Given the description of an element on the screen output the (x, y) to click on. 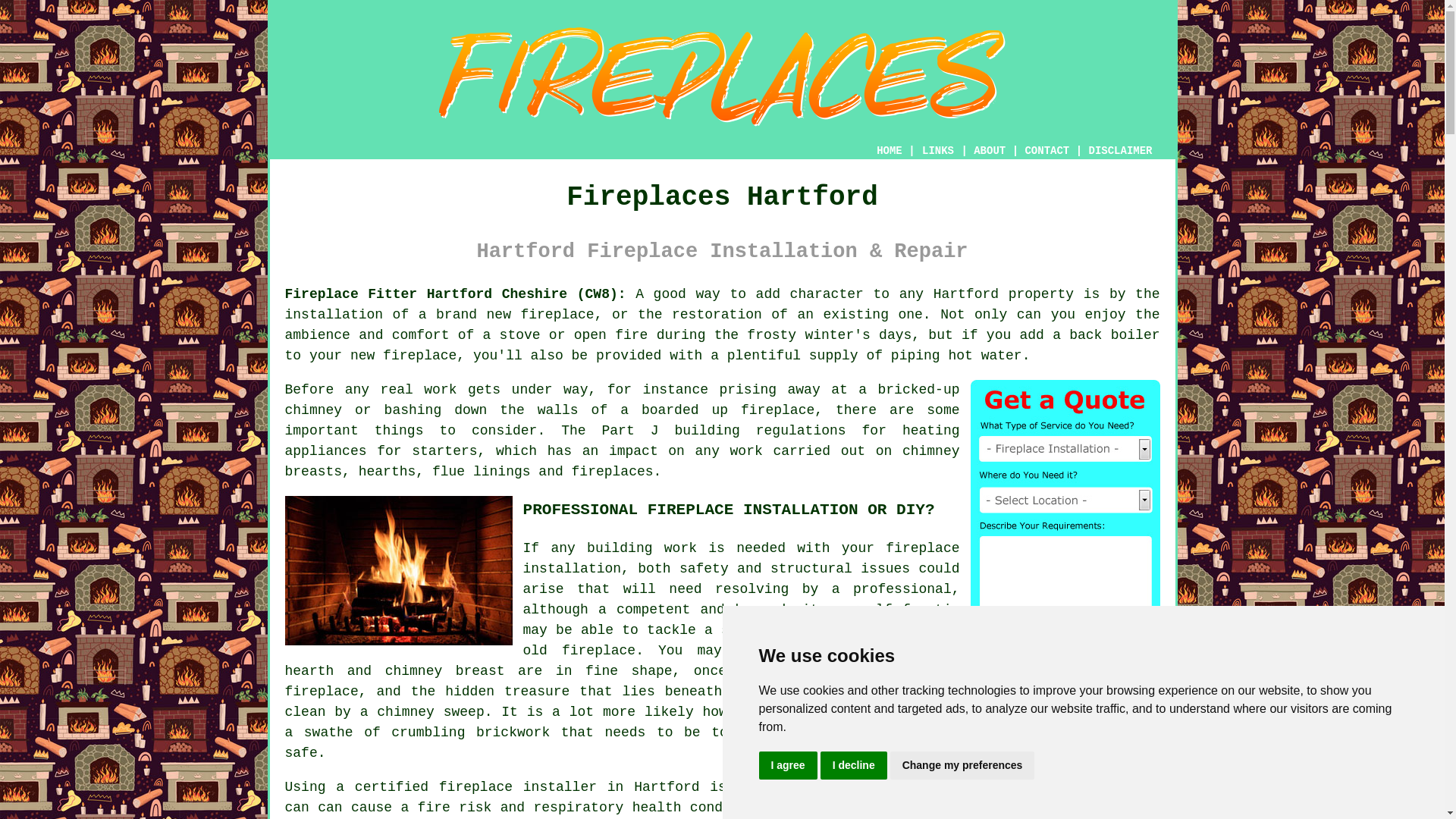
a certified fireplace installer (466, 786)
I decline (853, 765)
fireplace (556, 314)
Change my preferences (962, 765)
fireplaces (612, 471)
Fireplaces Hartford (721, 76)
HOME (889, 150)
I agree (787, 765)
LINKS (938, 151)
Open Fireplaces Hartford (398, 570)
